Given the description of an element on the screen output the (x, y) to click on. 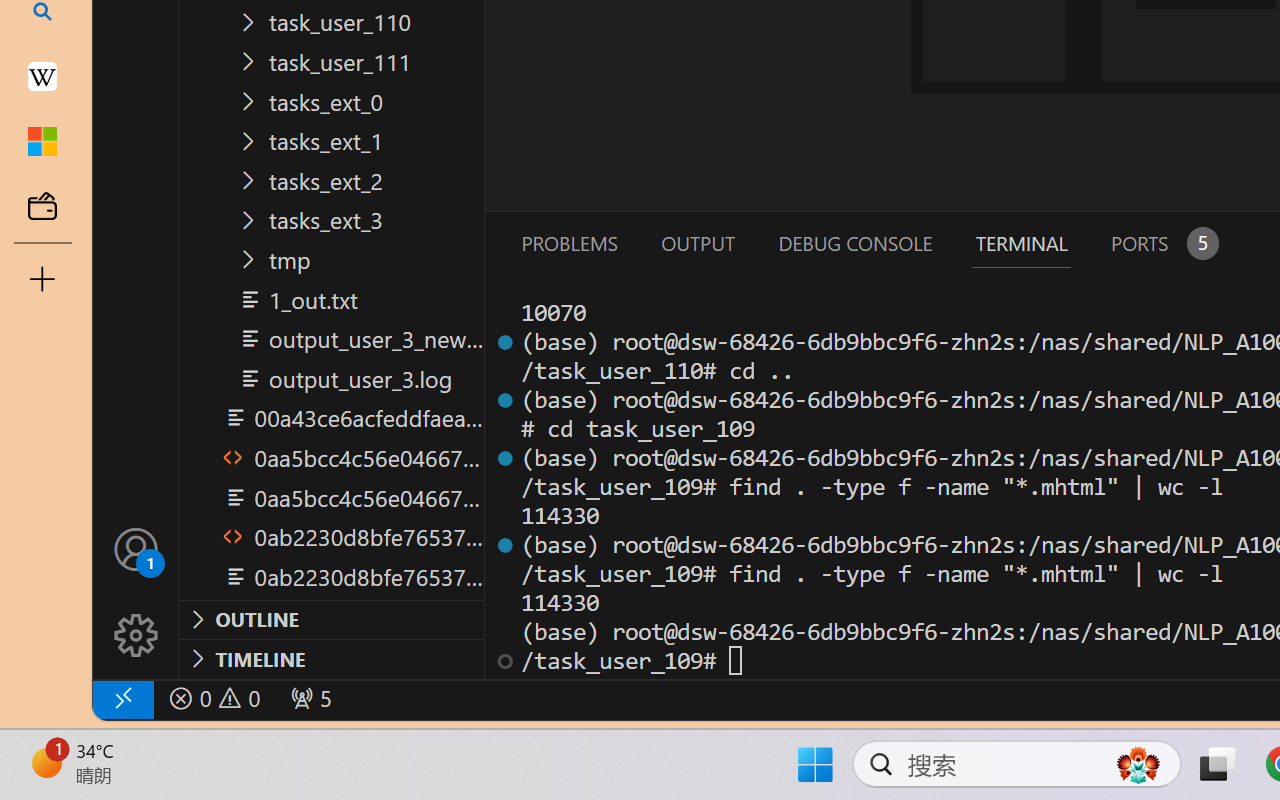
Terminal (Ctrl+`) (1021, 243)
Forwarded Ports: 36301, 47065, 38781, 45817, 50331 (308, 698)
Manage (135, 591)
Outline Section (331, 619)
Earth - Wikipedia (42, 75)
Output (Ctrl+Shift+U) (696, 243)
Timeline Section (331, 658)
Manage (135, 635)
Ports - 5 forwarded ports (1162, 243)
